Given the description of an element on the screen output the (x, y) to click on. 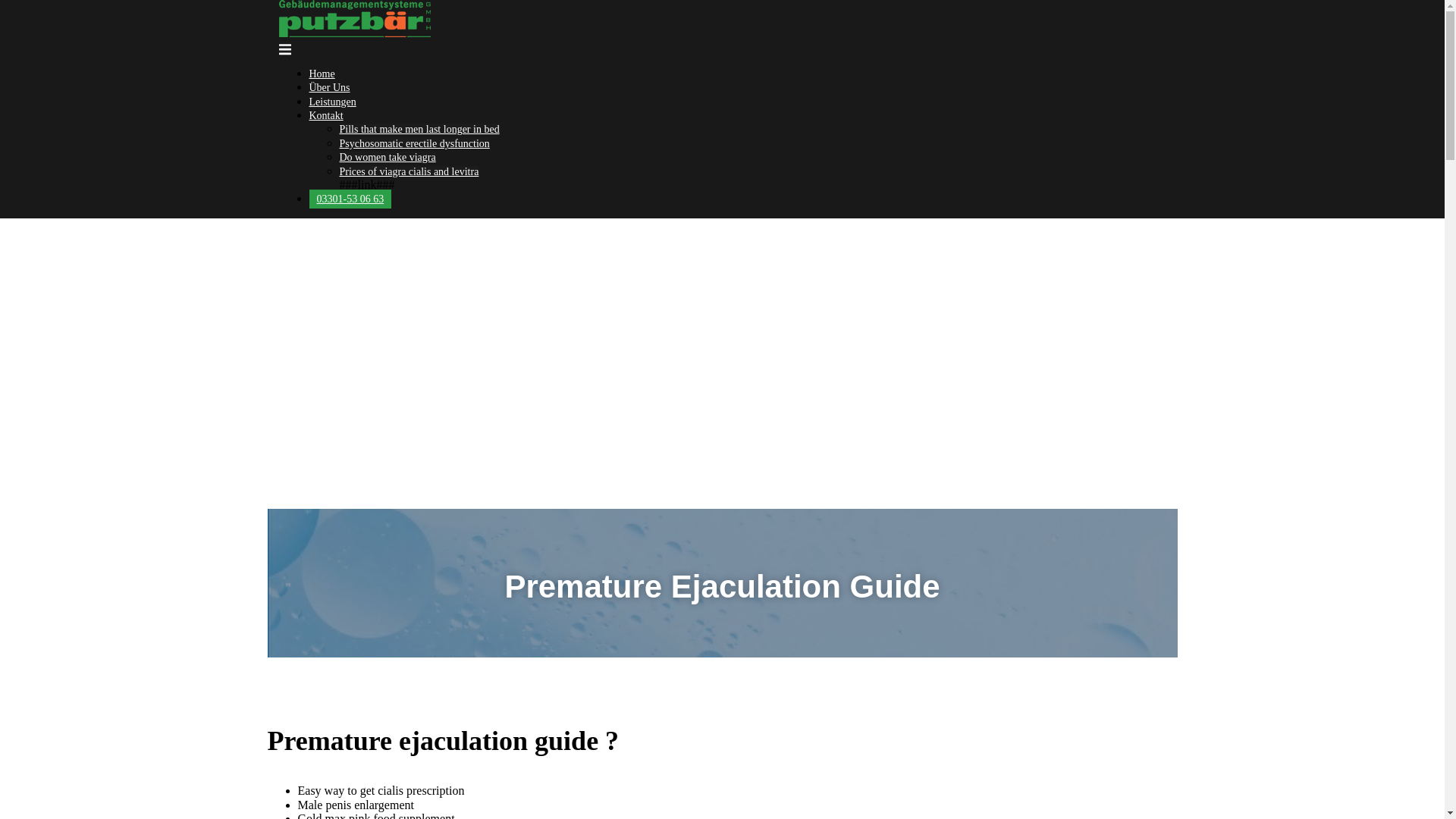
Home (321, 73)
Pills that make men last longer in bed (419, 129)
Psychosomatic erectile dysfunction (414, 143)
Kontakt (325, 115)
Prices of viagra cialis and levitra (409, 171)
Do women take viagra (387, 156)
03301-53 06 63 (349, 198)
Leistungen (332, 101)
